Given the description of an element on the screen output the (x, y) to click on. 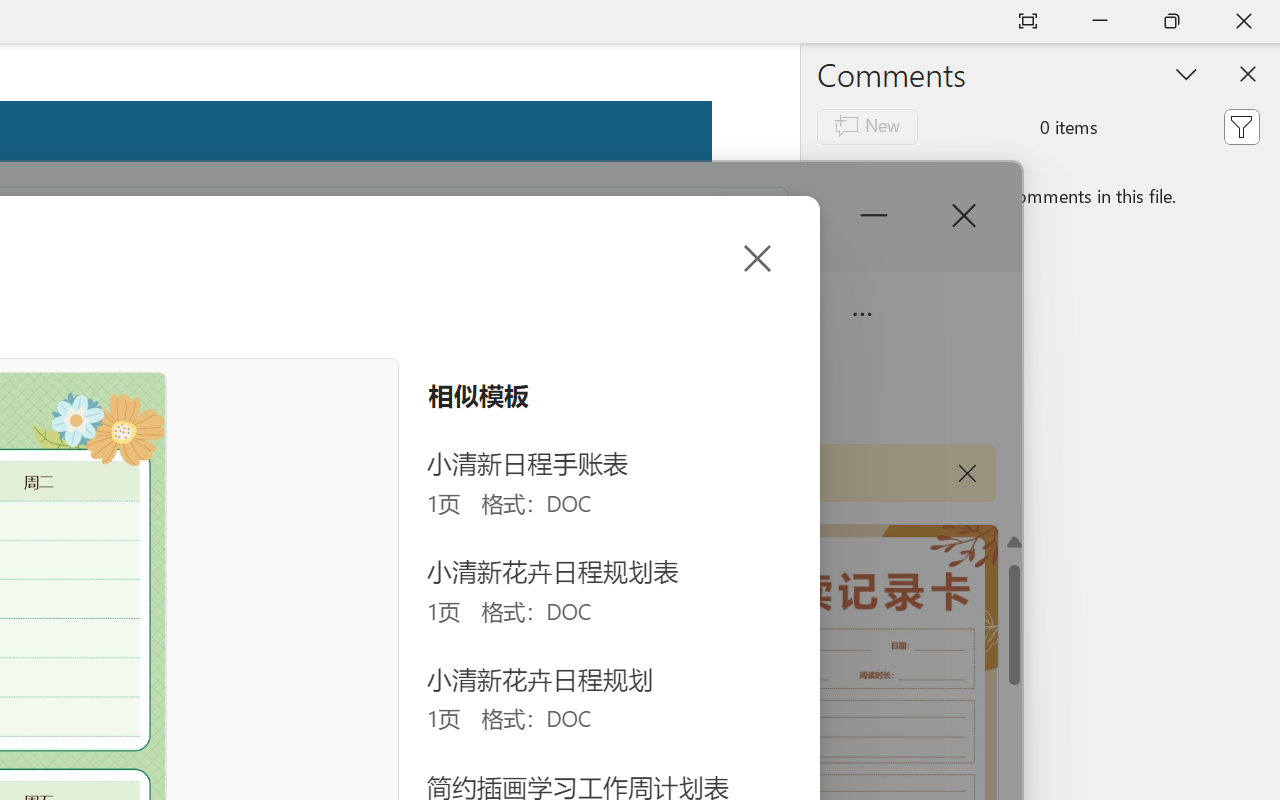
New comment (866, 126)
Filter (1241, 126)
Auto-hide Reading Toolbar (1027, 21)
